Given the description of an element on the screen output the (x, y) to click on. 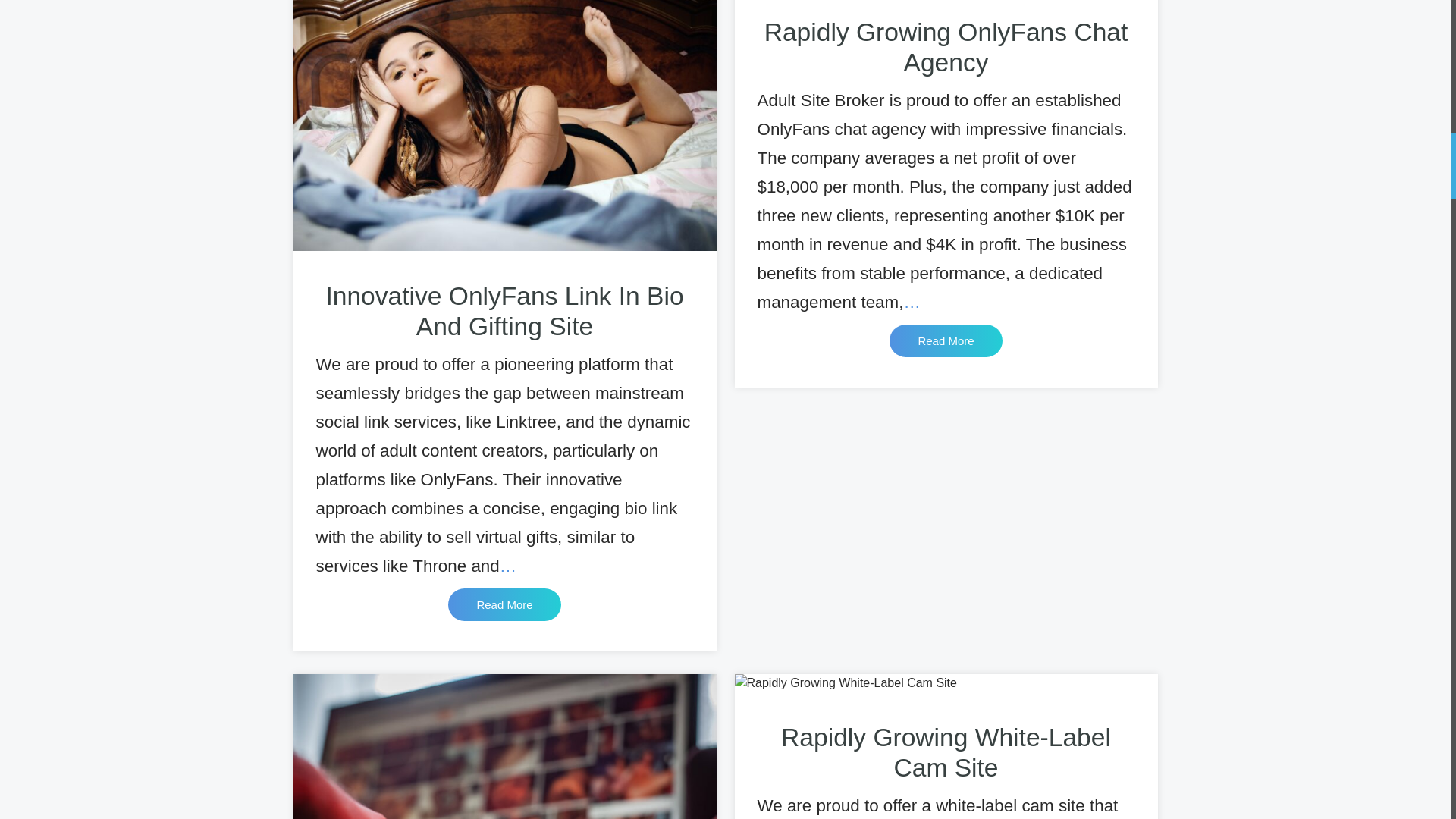
Read More (945, 340)
Read More (504, 604)
Rapidly Growing OnlyFans Chat Agency (946, 47)
Innovative OnlyFans Link In Bio And Gifting Site (503, 310)
